Given the description of an element on the screen output the (x, y) to click on. 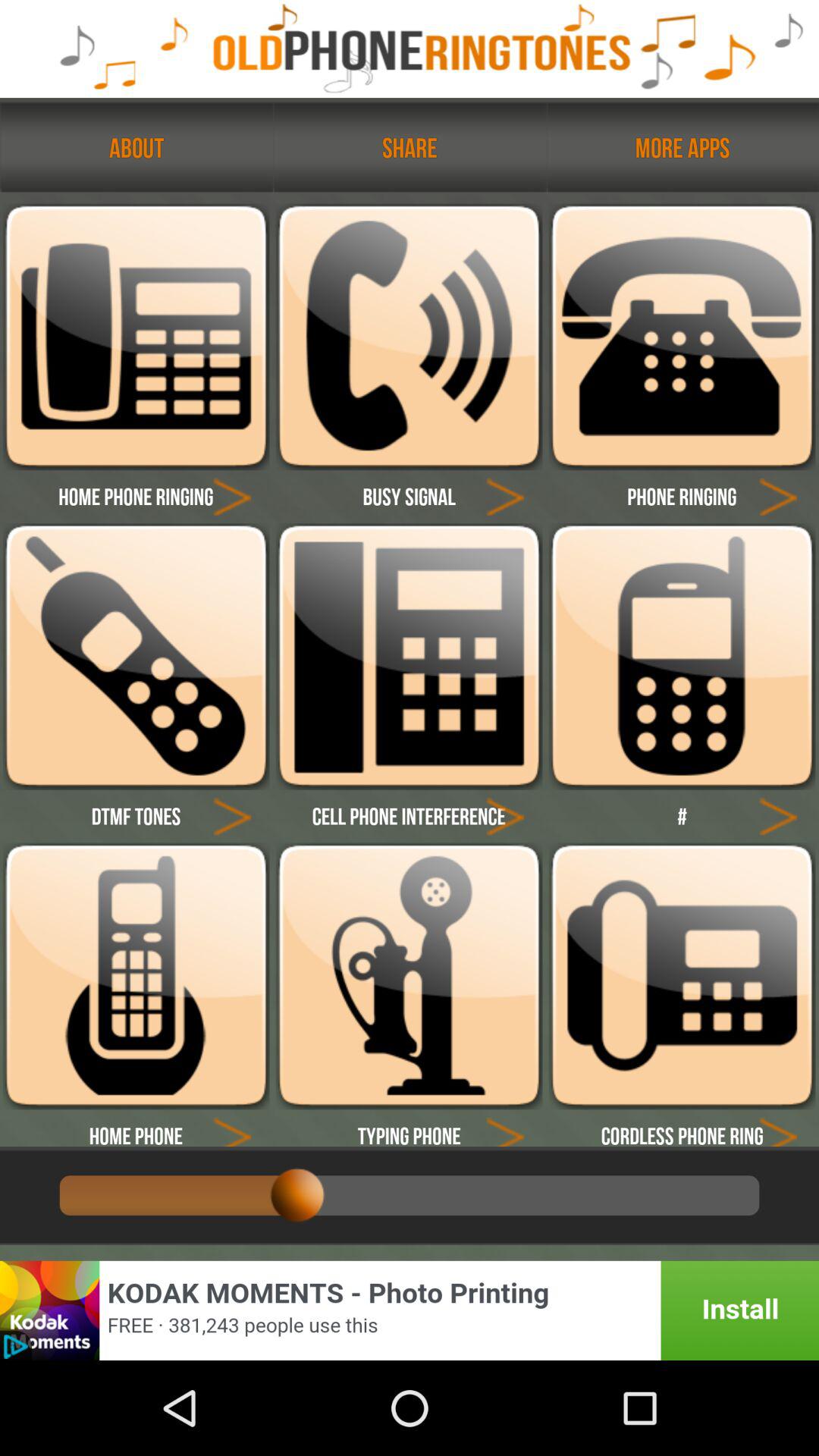
continue home ringing tone (232, 496)
